Given the description of an element on the screen output the (x, y) to click on. 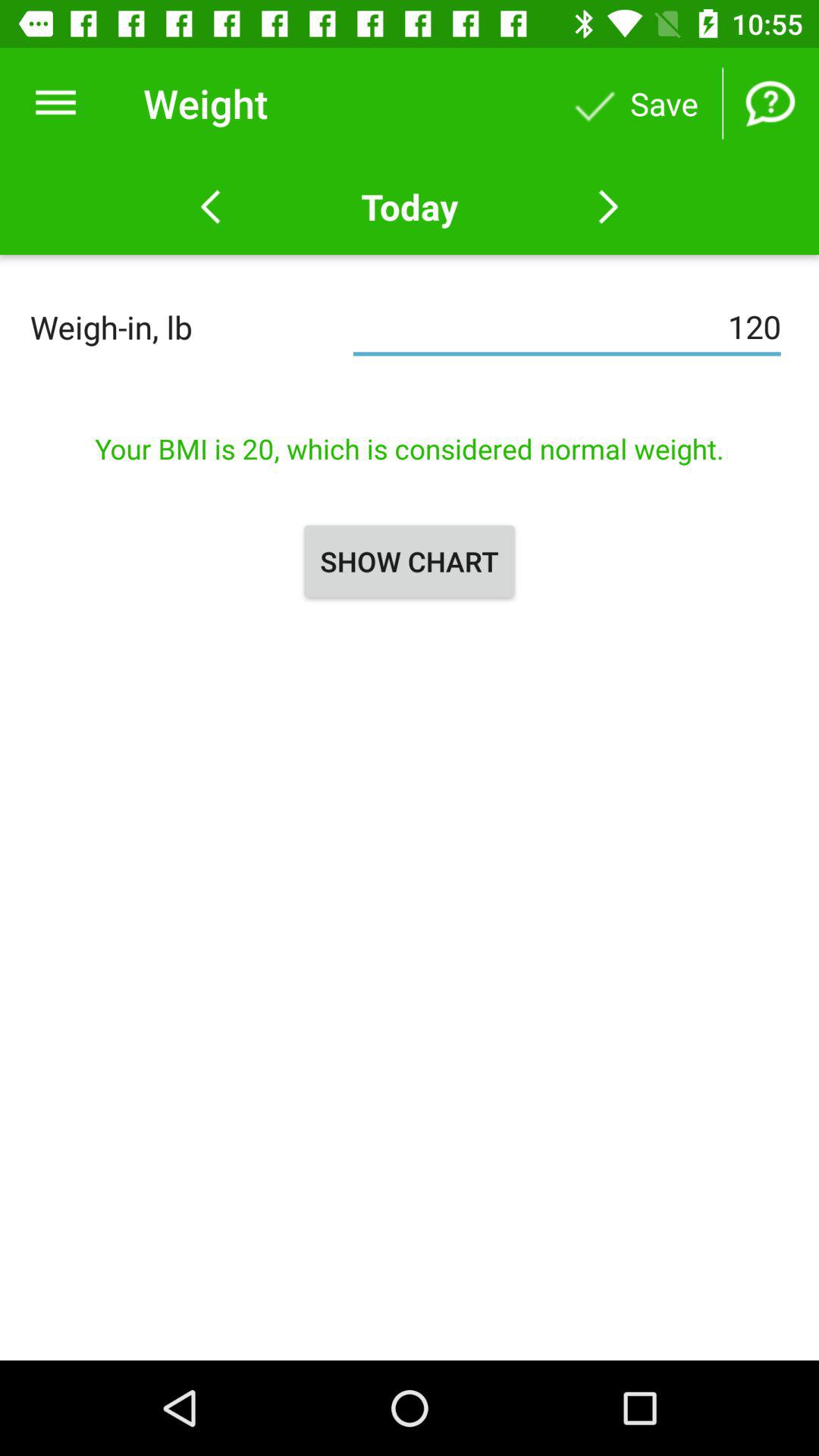
go to the next day (608, 206)
